Given the description of an element on the screen output the (x, y) to click on. 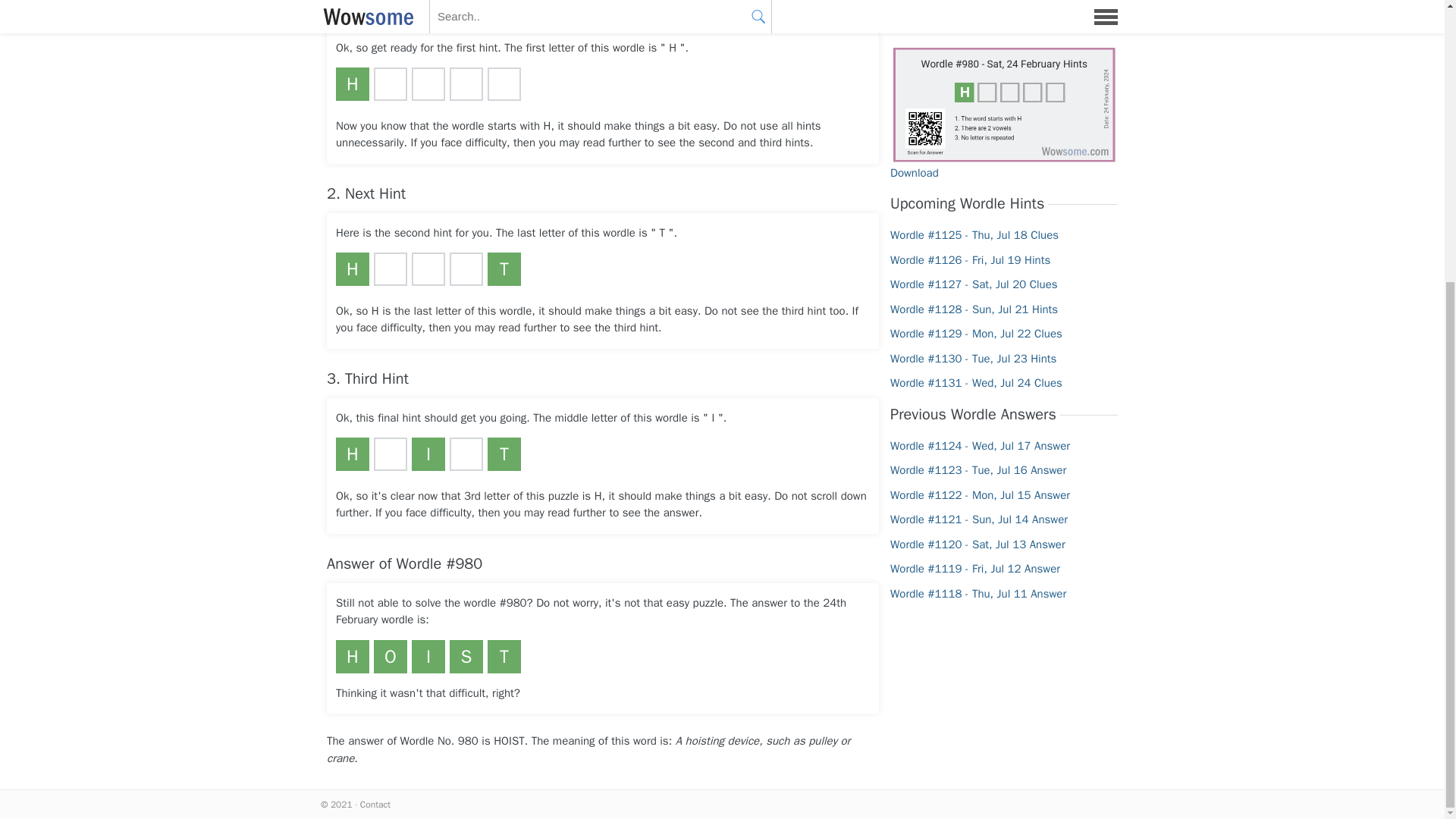
Contact (374, 804)
twitter (722, 4)
